Given the description of an element on the screen output the (x, y) to click on. 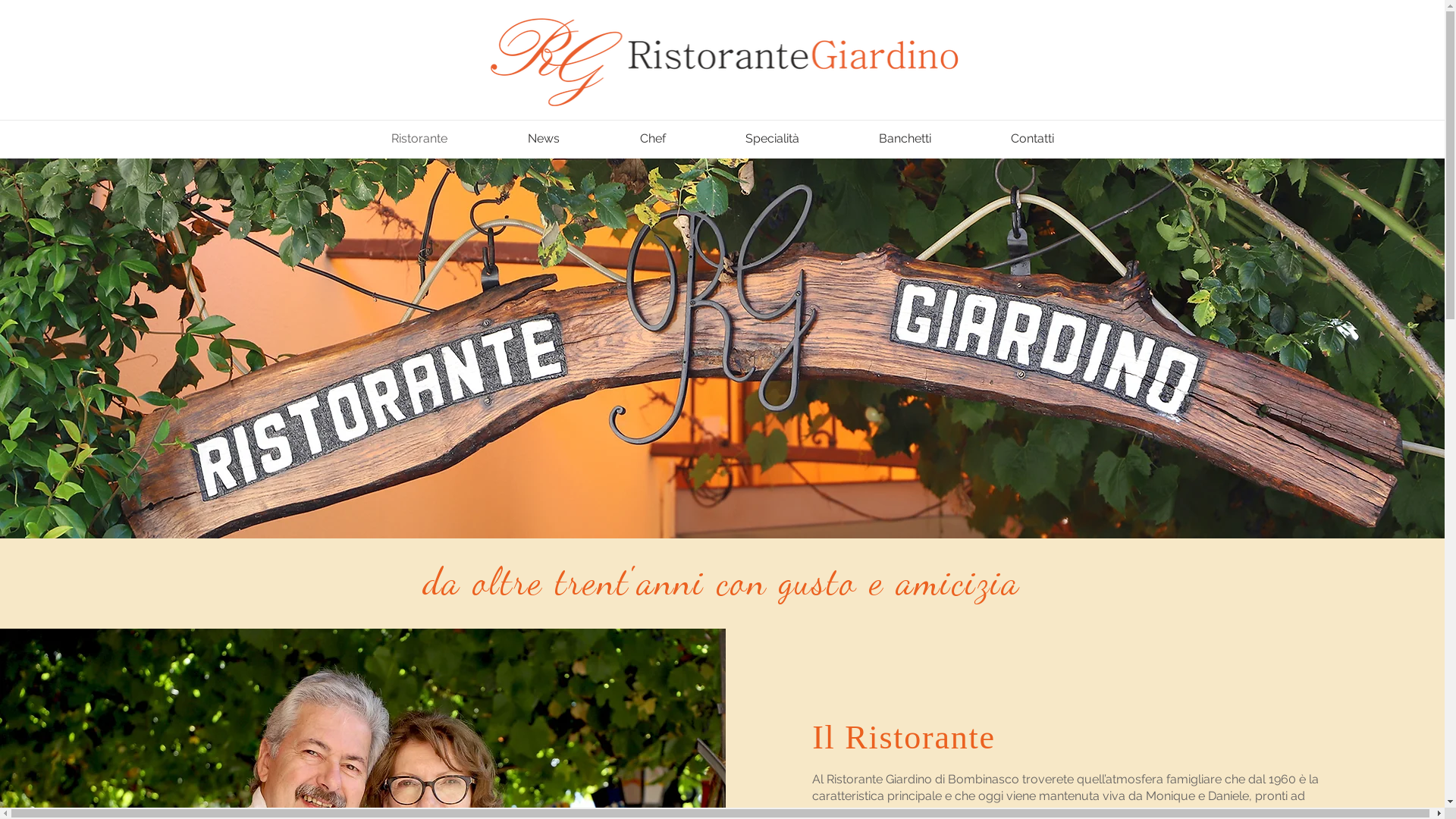
Contatti Element type: text (1031, 138)
Chef Element type: text (652, 138)
Ristorante Element type: text (419, 138)
Banchetti Element type: text (904, 138)
News Element type: text (543, 138)
